Given the description of an element on the screen output the (x, y) to click on. 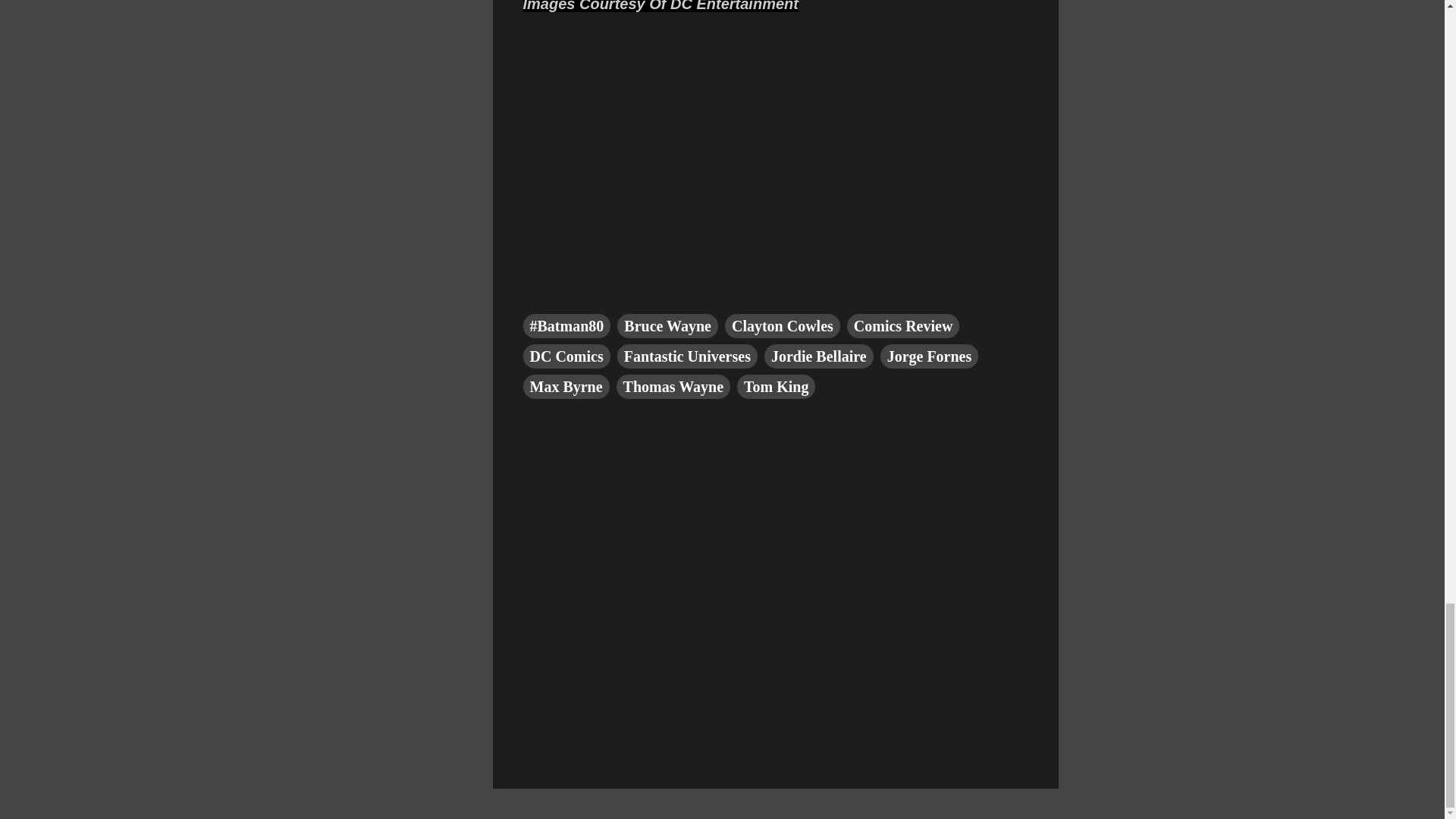
Max Byrne (566, 386)
Jordie Bellaire (818, 355)
Tom King (775, 386)
Thomas Wayne (672, 386)
Clayton Cowles (782, 325)
DC Comics (566, 355)
Jorge Fornes (929, 355)
Fantastic Universes (687, 355)
Bruce Wayne (667, 325)
Comics Review (903, 325)
